Given the description of an element on the screen output the (x, y) to click on. 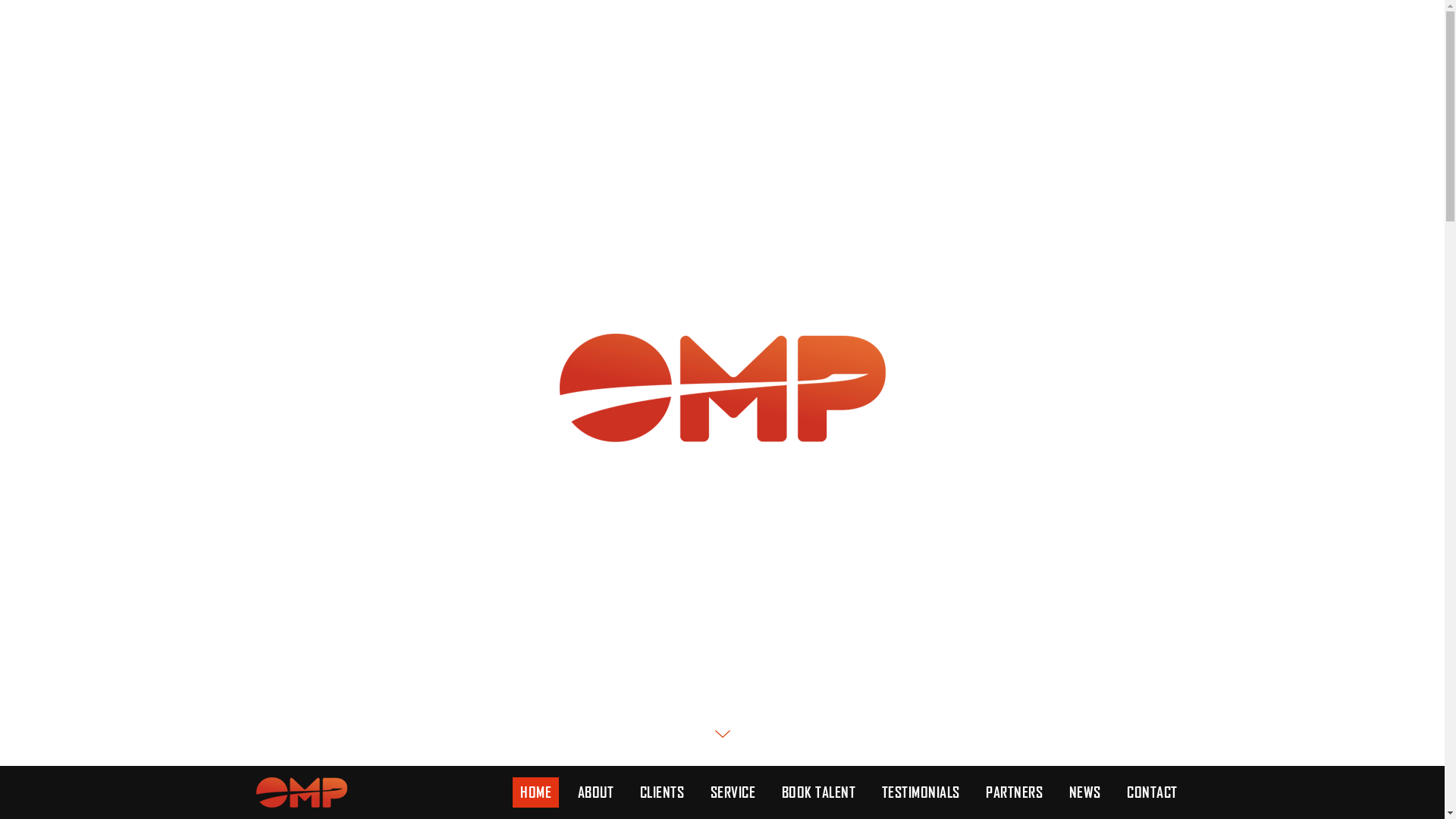
TESTIMONIALS Element type: text (919, 792)
PARTNERS Element type: text (1014, 792)
3 Element type: text (730, 33)
CLIENTS Element type: text (662, 792)
ABOUT Element type: text (595, 792)
NEWS Element type: text (1084, 792)
4 Element type: text (745, 33)
BOOK TALENT Element type: text (817, 792)
CONTACT Element type: text (1152, 792)
1 Element type: text (699, 33)
SERVICE Element type: text (732, 792)
HOME Element type: text (535, 792)
2 Element type: text (714, 33)
SCROLL DOWN Element type: text (722, 725)
